Given the description of an element on the screen output the (x, y) to click on. 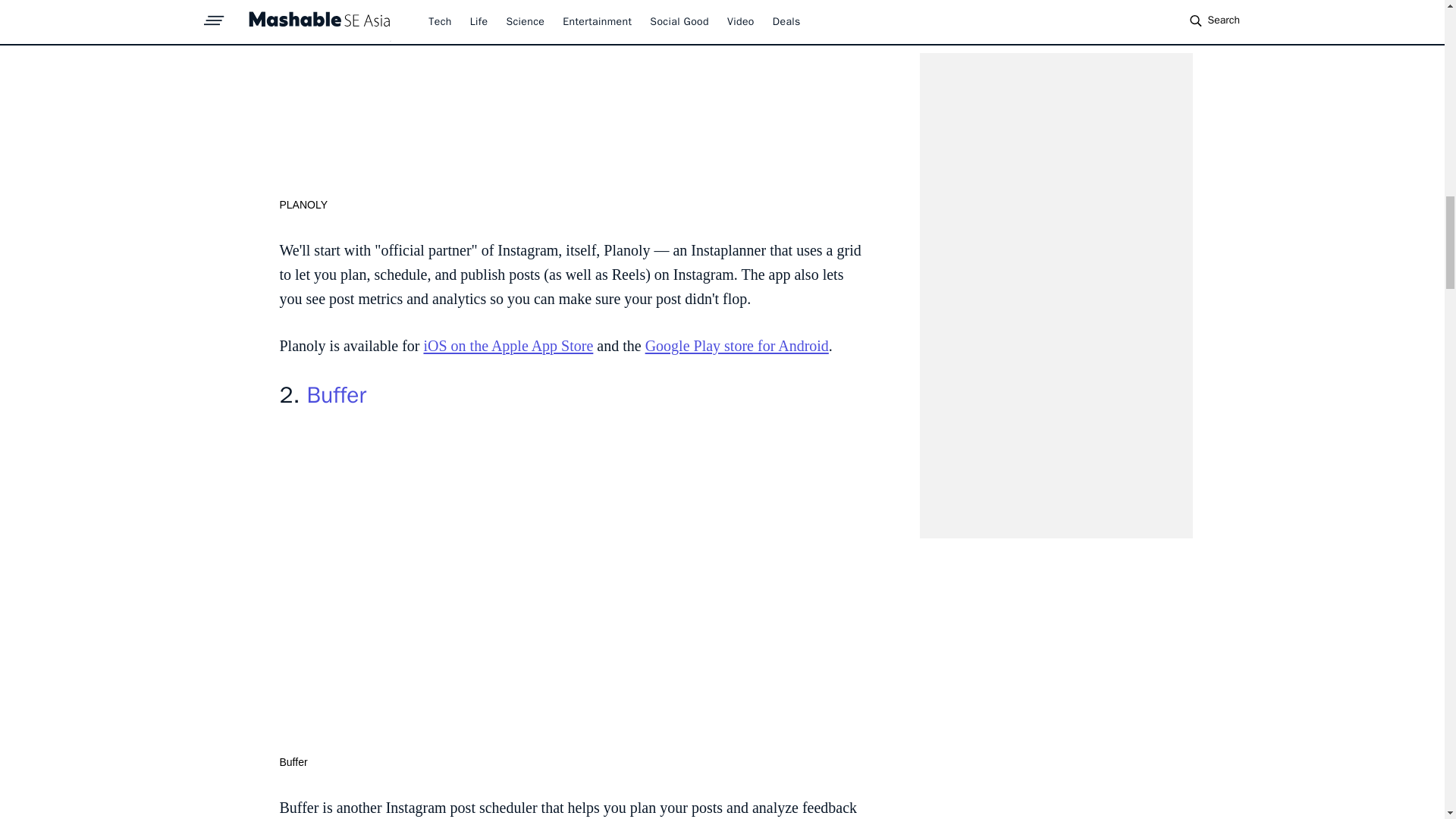
Buffer (335, 394)
Google Play store for Android (736, 345)
iOS on the Apple App Store (507, 345)
